Given the description of an element on the screen output the (x, y) to click on. 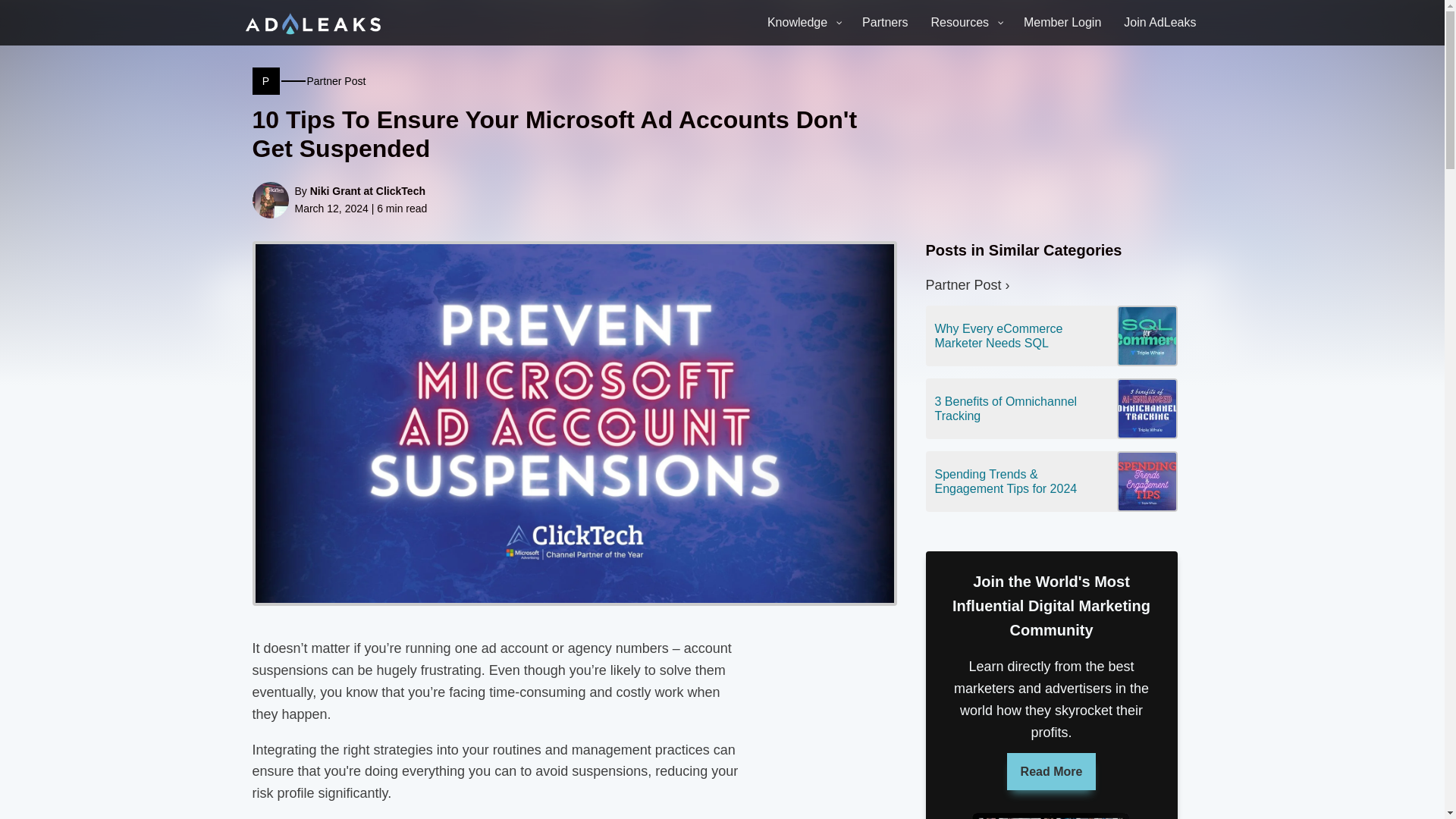
Member Login (1061, 22)
Why Every eCommerce Marketer Needs SQL (308, 81)
All AdLeaks Resources (1020, 335)
Knowledge (965, 22)
Join AdLeaks (802, 22)
Log In to the AdLeaks Vault (1159, 22)
Partners (1061, 22)
3 Benefits of Omnichannel Tracking (884, 22)
Resources (1020, 408)
